Given the description of an element on the screen output the (x, y) to click on. 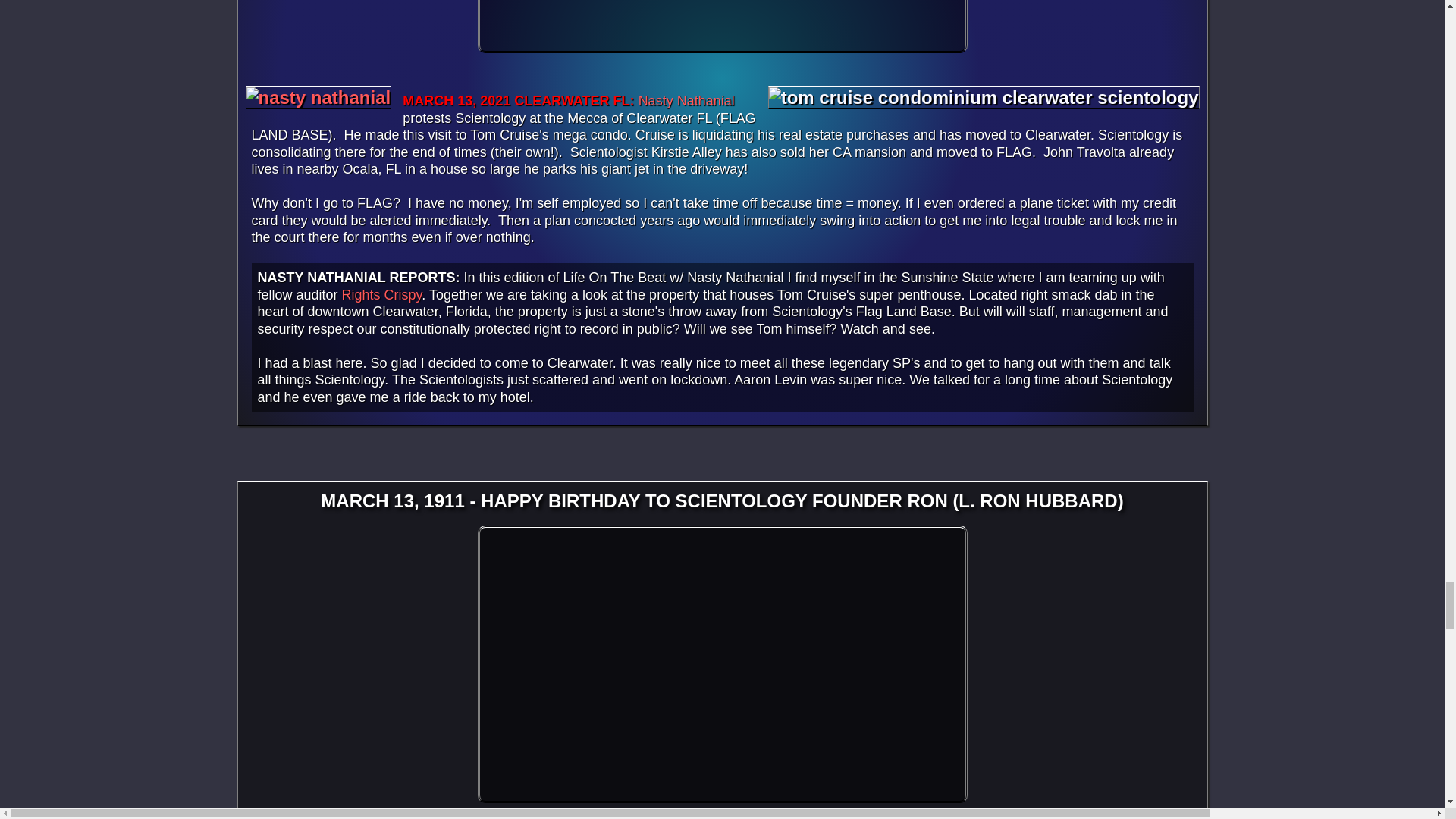
YouTube video player (722, 26)
